Given the description of an element on the screen output the (x, y) to click on. 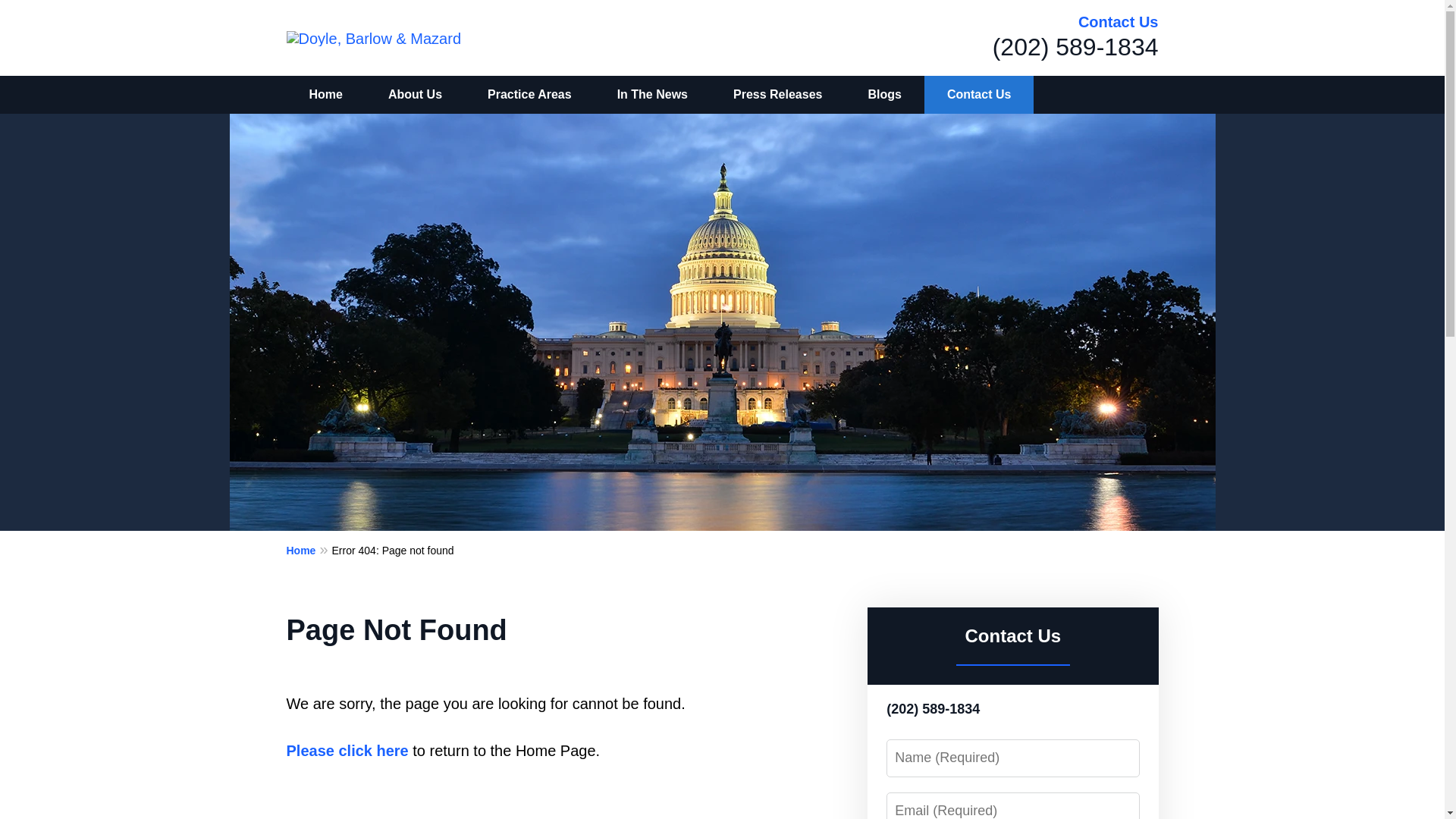
Press Releases (777, 94)
Home (308, 549)
Home (325, 94)
In The News (652, 94)
Contact Us (978, 94)
About Us (414, 94)
Please click here (347, 750)
Practice Areas (529, 94)
Blogs (883, 94)
